Given the description of an element on the screen output the (x, y) to click on. 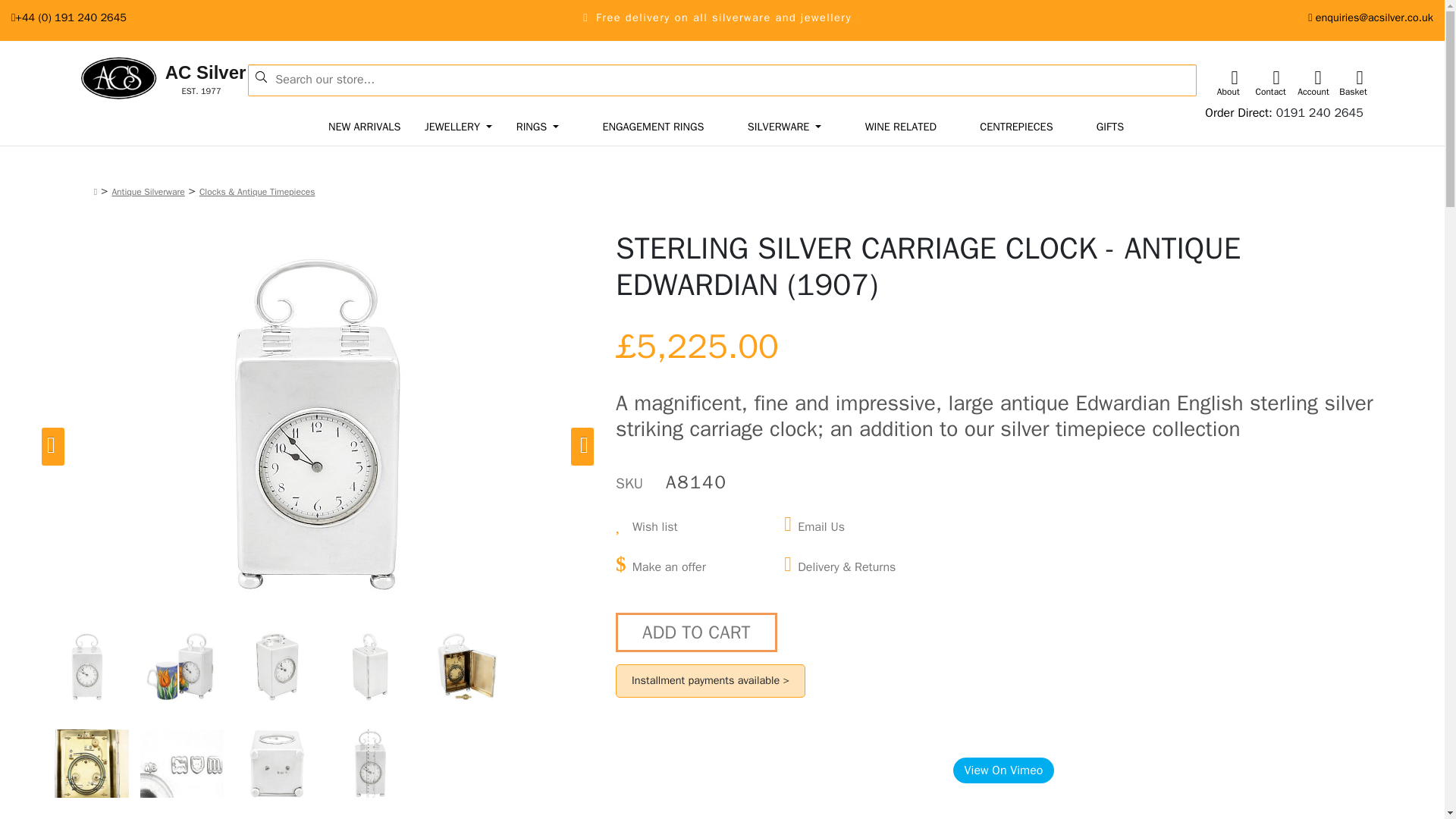
NEW ARRIVALS (363, 126)
RINGS (538, 126)
0191 240 2645 (135, 78)
JEWELLERY (1319, 112)
